Given the description of an element on the screen output the (x, y) to click on. 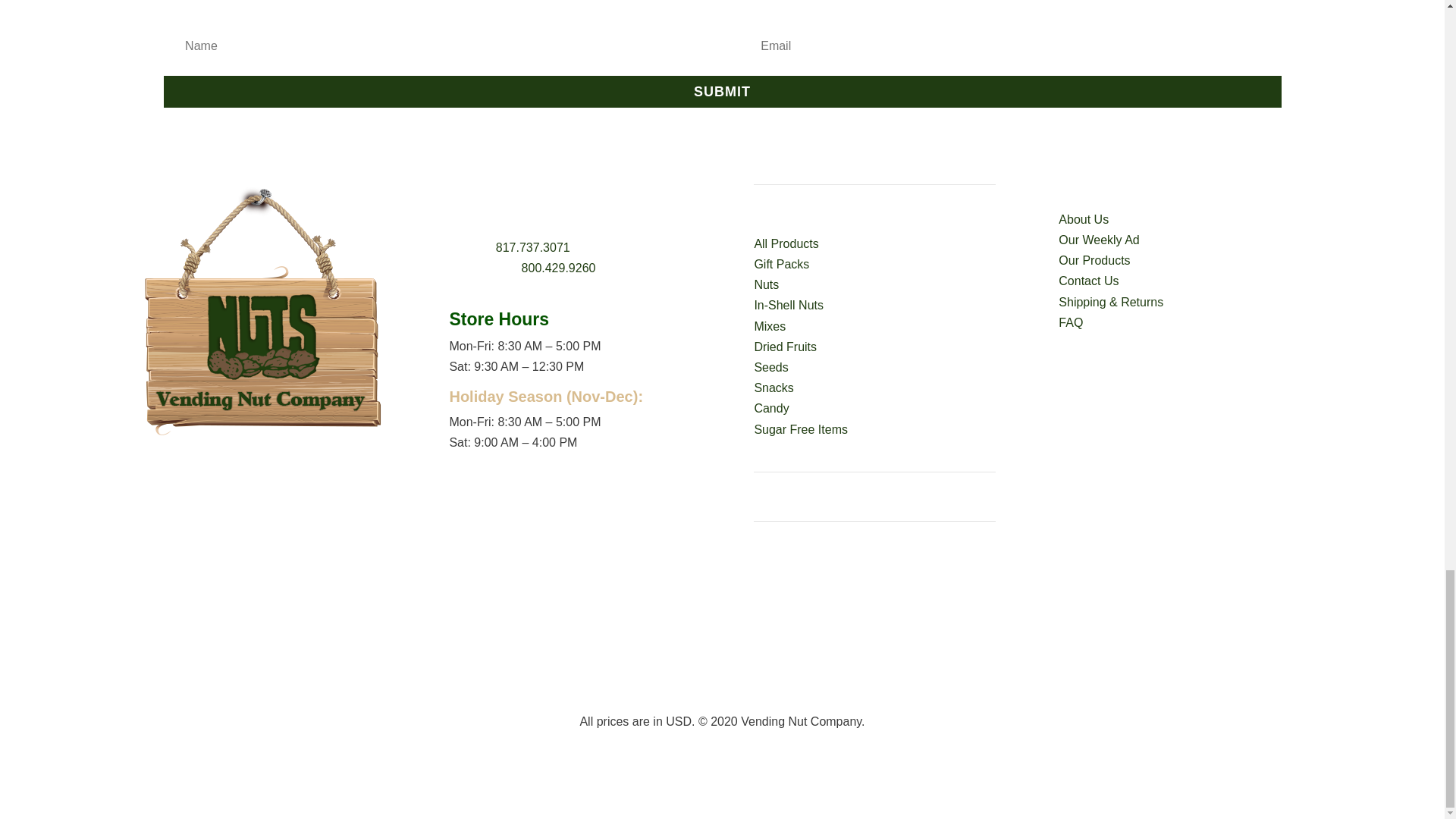
817.737.3071 (533, 246)
800.429.9260 (558, 267)
Mixes (770, 326)
Contact Us (1088, 280)
About Us (1083, 219)
Follow on Instagram (279, 478)
Our Products (1093, 259)
Gift Packs (781, 264)
Nuts (766, 284)
FAQ (1070, 322)
US Dollars (678, 721)
Seeds (770, 367)
SUBMIT (722, 91)
Snacks (773, 387)
All Products (786, 243)
